Given the description of an element on the screen output the (x, y) to click on. 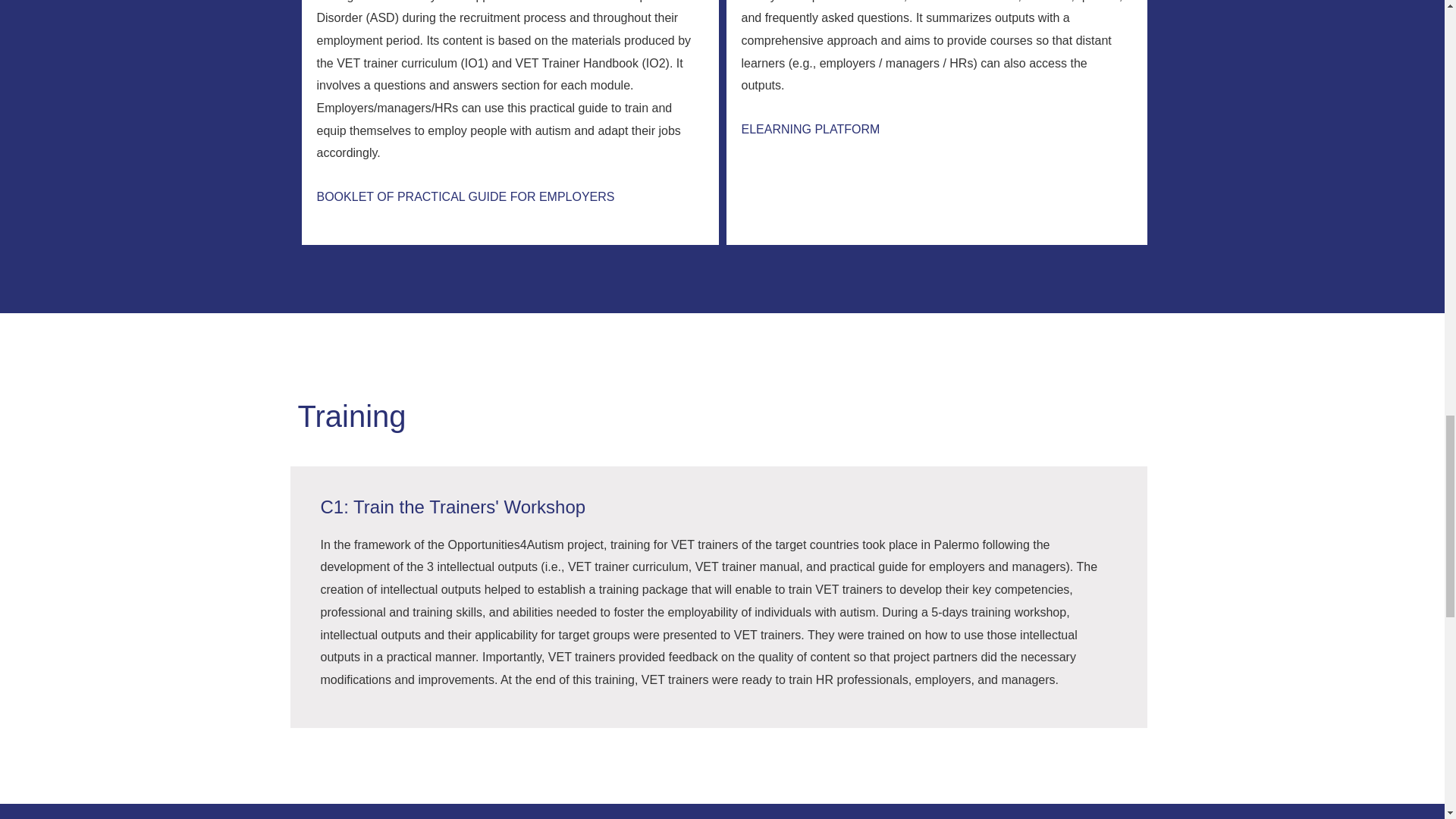
BOOKLET OF PRACTICAL GUIDE FOR EMPLOYERS (465, 196)
ELEARNING PLATFORM (810, 128)
